Given the description of an element on the screen output the (x, y) to click on. 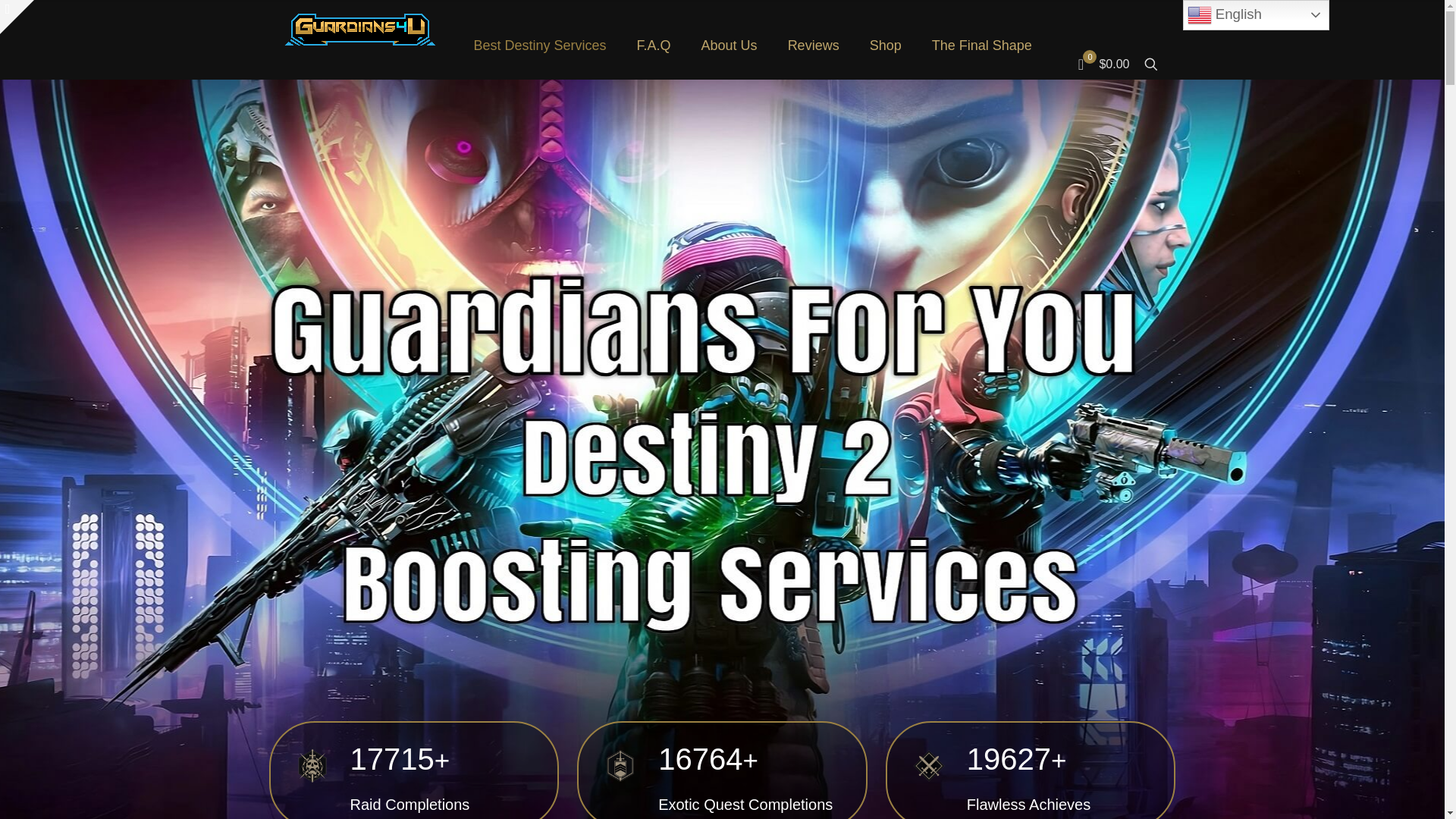
Best Destiny Services (539, 45)
Reviews (813, 45)
About Us (729, 45)
